Given the description of an element on the screen output the (x, y) to click on. 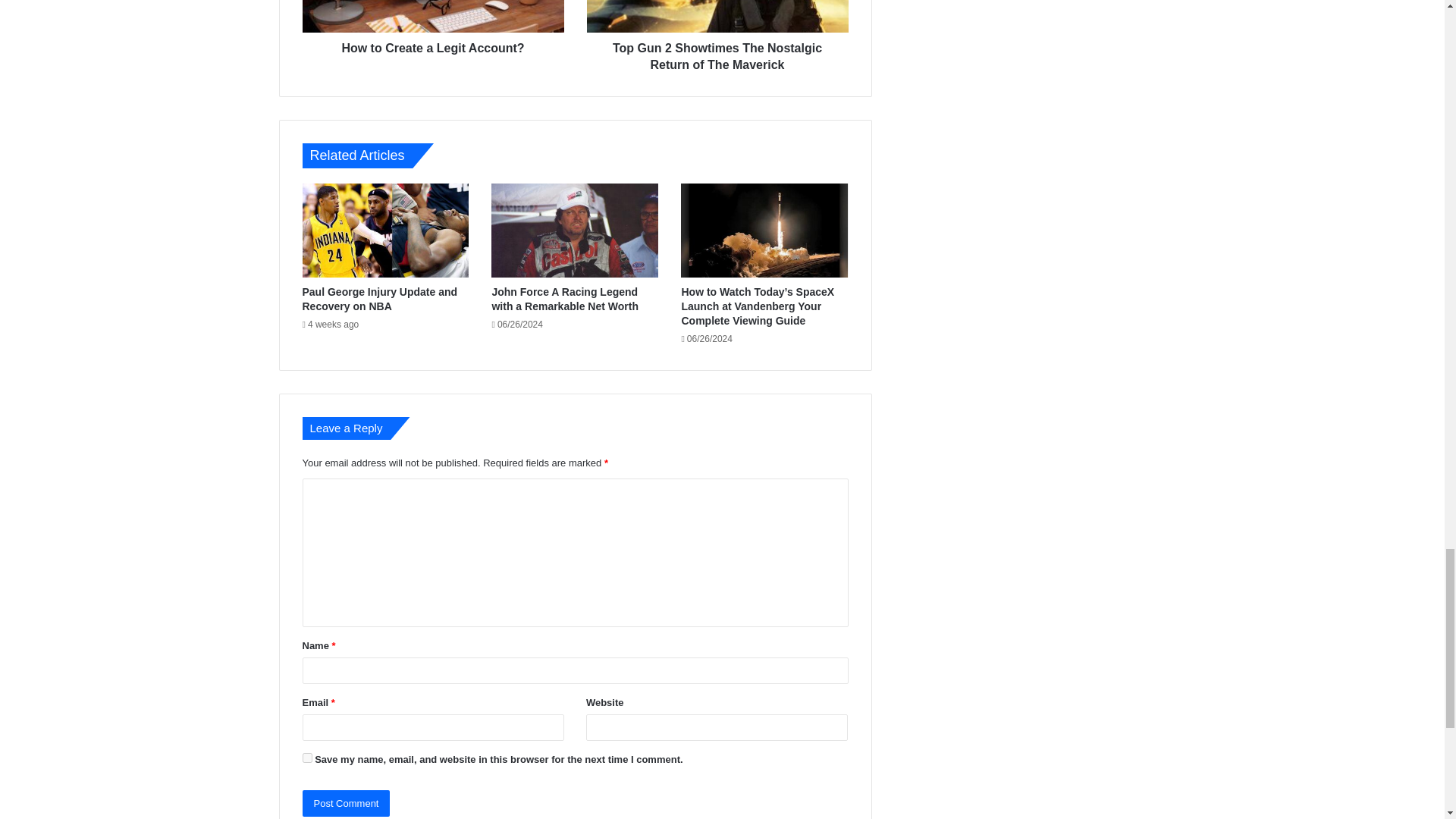
Post Comment (345, 803)
yes (306, 757)
